Given the description of an element on the screen output the (x, y) to click on. 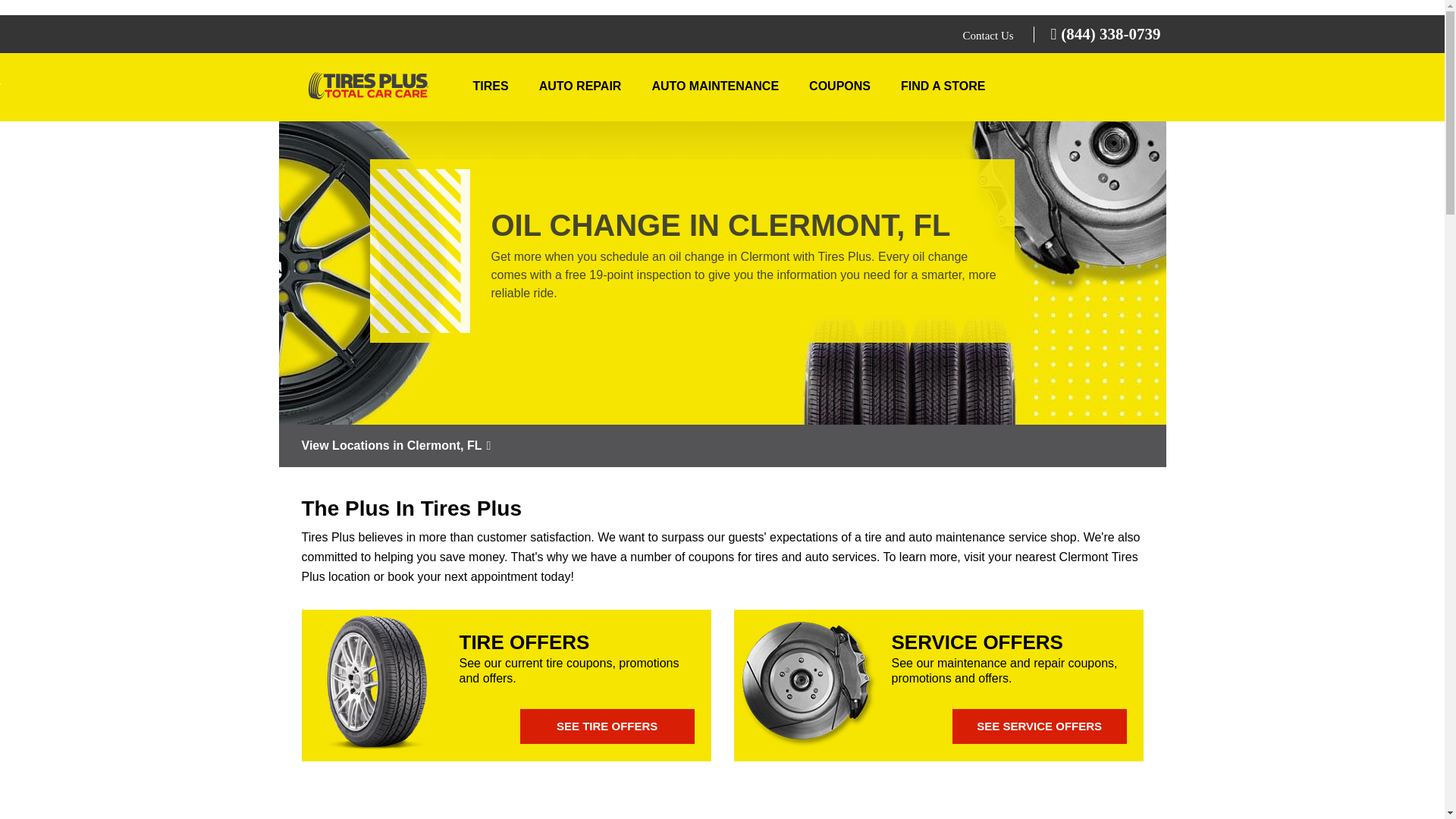
FIND A STORE (942, 87)
Contact Us (988, 35)
COUPONS (839, 87)
TIRES (491, 87)
View Locations in Clermont, FL (722, 445)
AUTO MAINTENANCE (714, 87)
AUTO REPAIR (580, 87)
Tires Plus (368, 89)
